Given the description of an element on the screen output the (x, y) to click on. 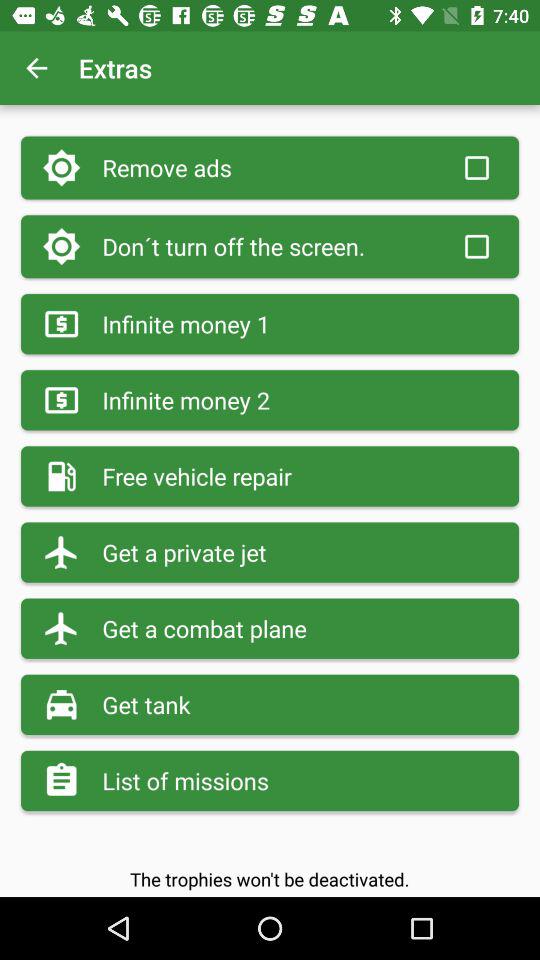
launch item to the left of extras (36, 68)
